Given the description of an element on the screen output the (x, y) to click on. 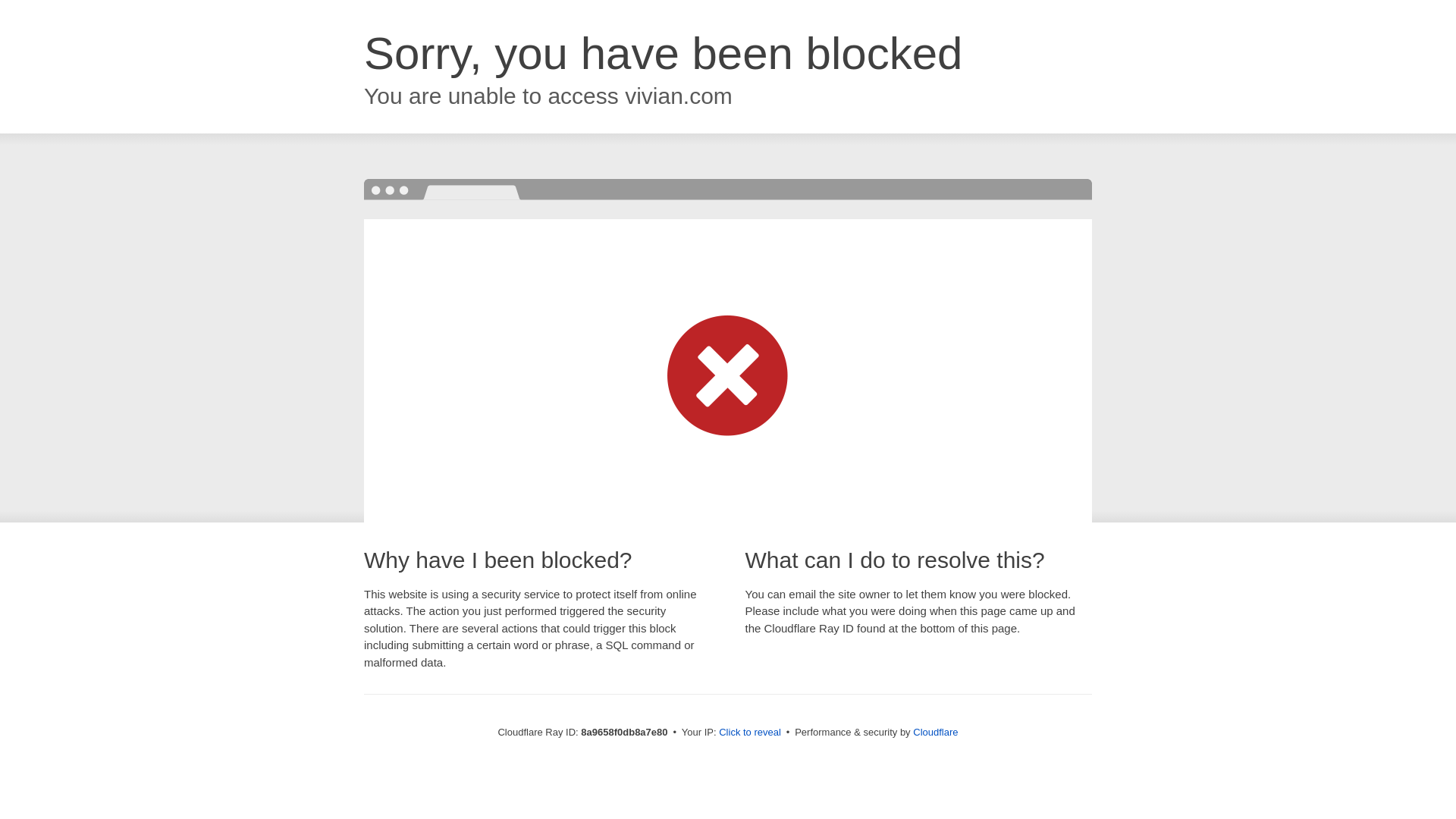
Cloudflare (935, 731)
Click to reveal (749, 732)
